Given the description of an element on the screen output the (x, y) to click on. 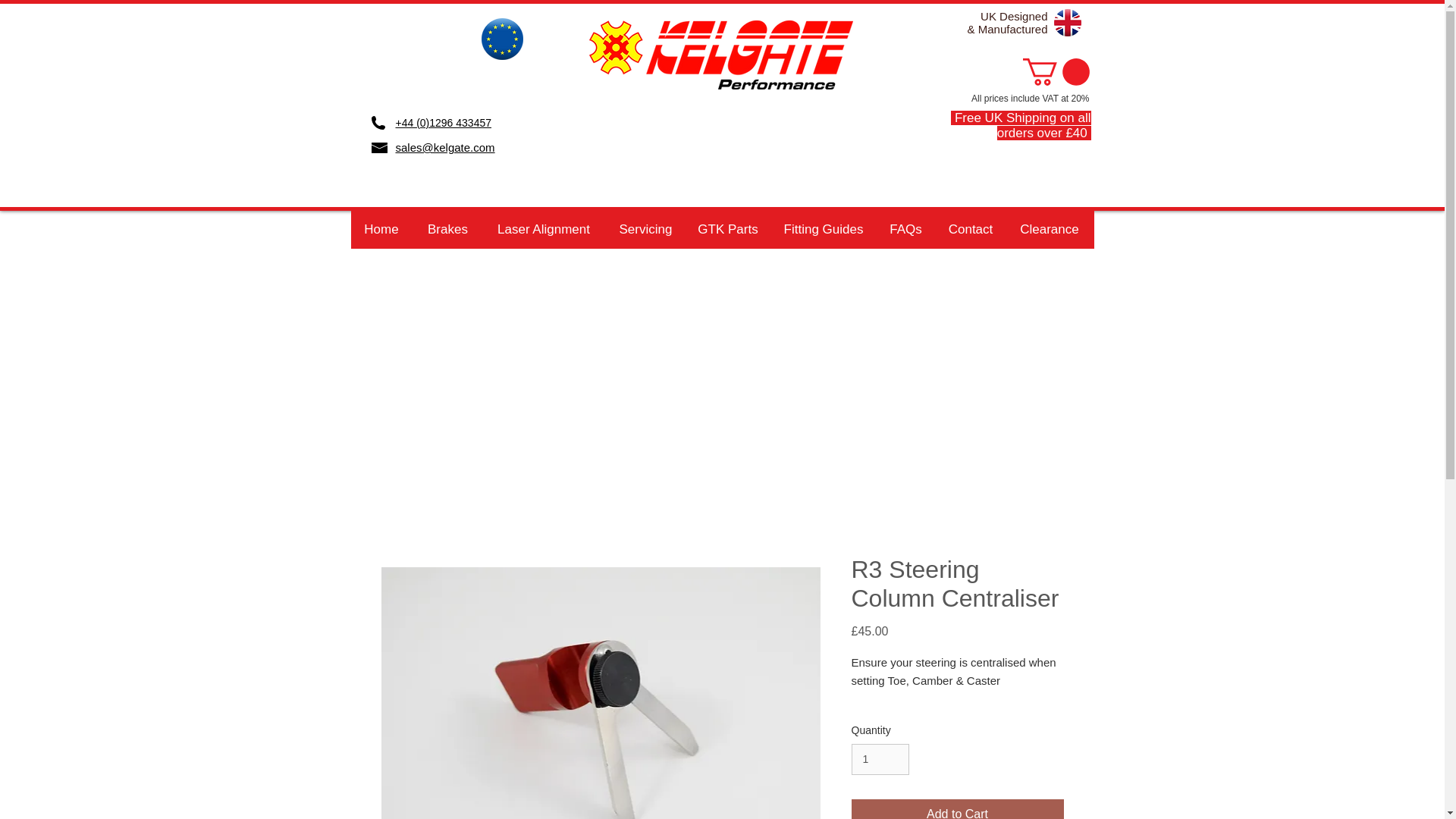
Kelgate Brakes Lasers Logo (719, 54)
1 (879, 758)
Add to Cart (956, 809)
Laser Alignment (543, 229)
Home (381, 229)
Brakes (447, 229)
